Given the description of an element on the screen output the (x, y) to click on. 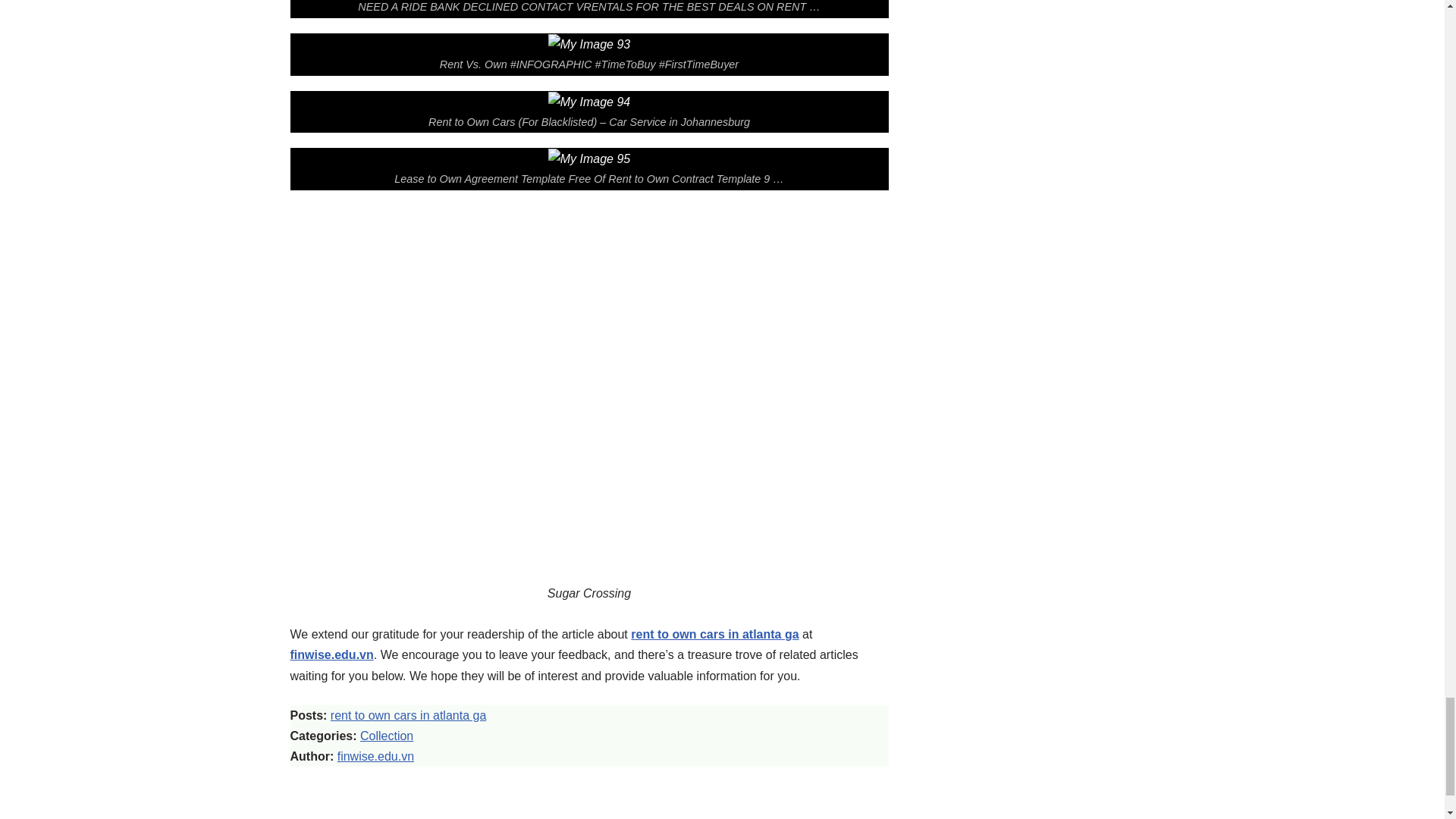
rent to own cars in atlanta ga (408, 715)
finwise.edu.vn (330, 654)
rent to own cars in atlanta ga (713, 634)
Collection (386, 735)
finwise.edu.vn (375, 756)
